Given the description of an element on the screen output the (x, y) to click on. 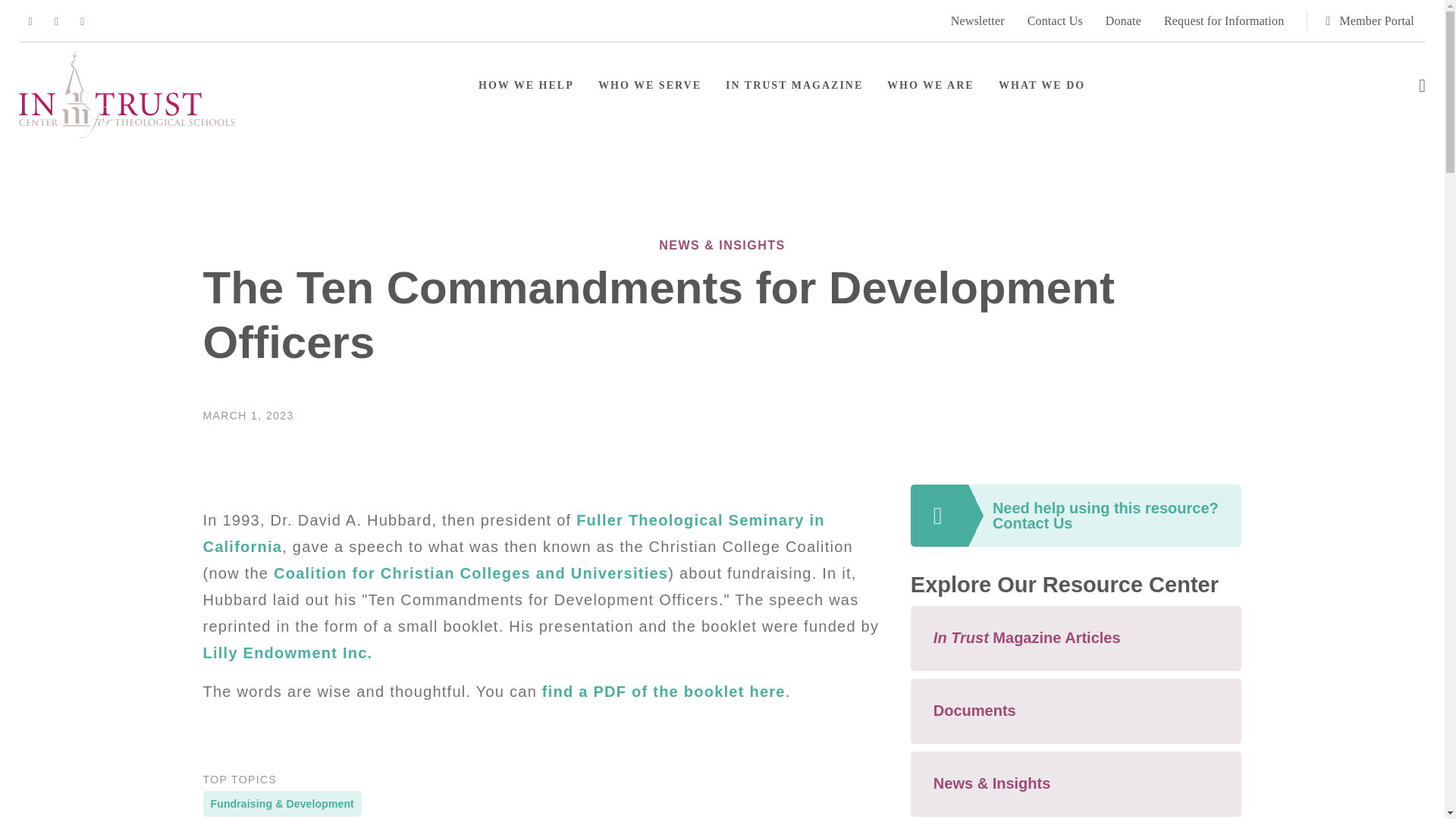
WHAT WE DO (1041, 85)
Member Portal (1360, 21)
WHO WE SERVE (649, 85)
Newsletter (977, 20)
HOW WE HELP (526, 85)
Request for Information (1223, 20)
Contact Us (1055, 20)
Donate (1123, 20)
IN TRUST MAGAZINE (794, 85)
WHO WE ARE (930, 85)
